Given the description of an element on the screen output the (x, y) to click on. 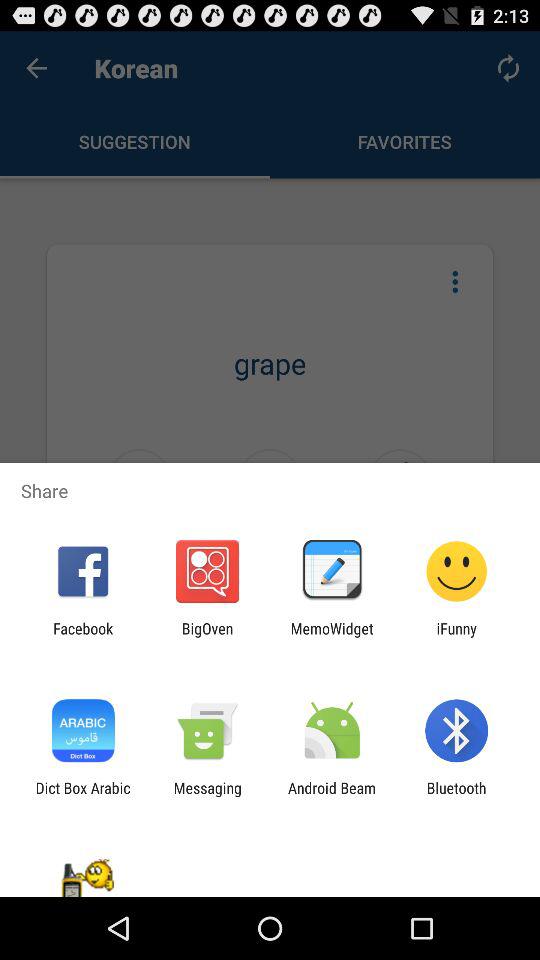
turn off the item next to ifunny icon (331, 637)
